Given the description of an element on the screen output the (x, y) to click on. 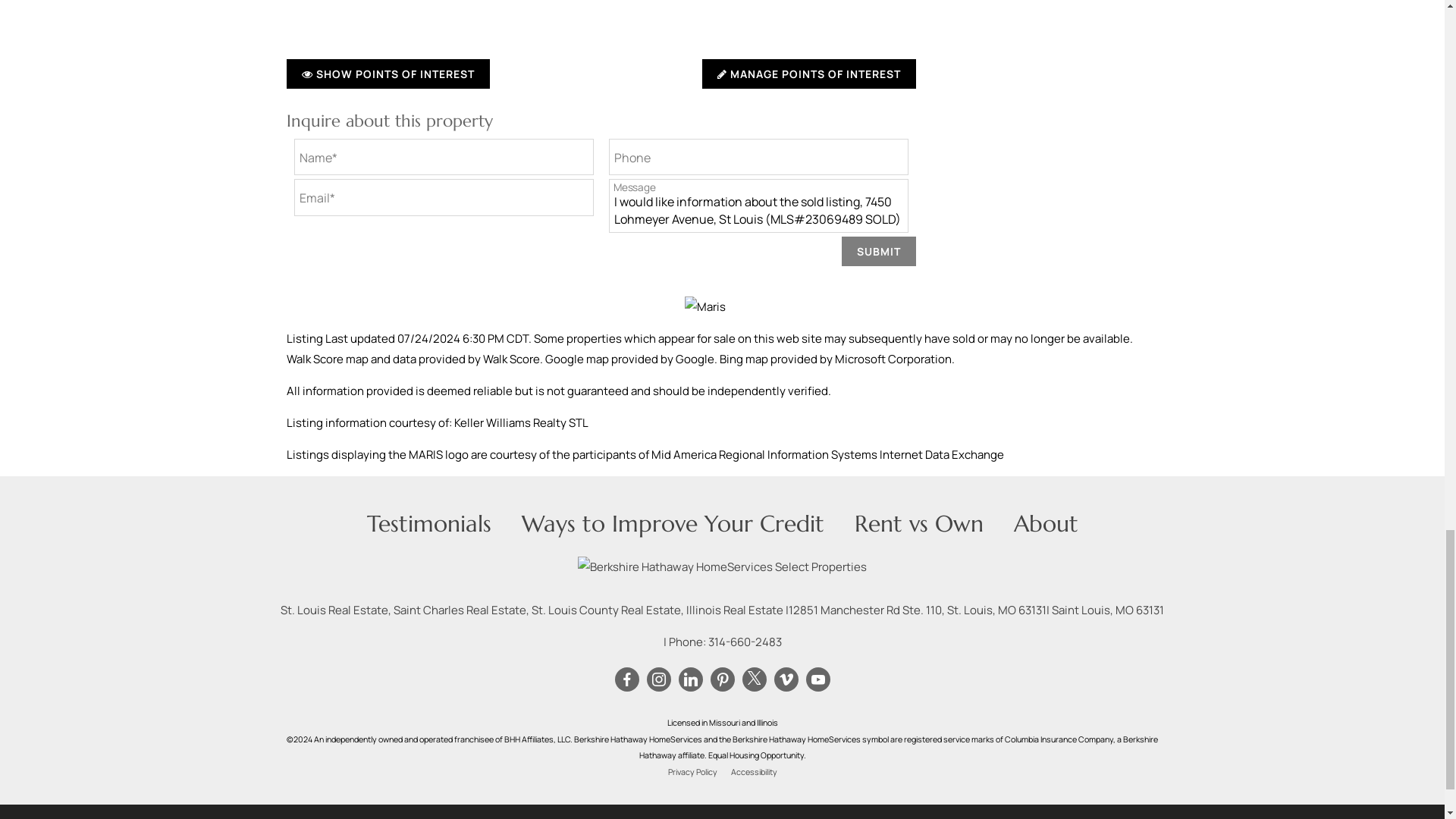
Visit me on Instagram (658, 679)
Rent vs Own (917, 523)
Visit me on LinkedIn (690, 679)
Visit me on Facebook (626, 679)
Ways to Improve Your Credit (672, 523)
Visit me on Pinterest (722, 679)
About (1045, 523)
Visit me on Vimeo (785, 679)
Visit me on X (754, 679)
Visit me on YouTube (817, 679)
Testimonials (429, 523)
